Given the description of an element on the screen output the (x, y) to click on. 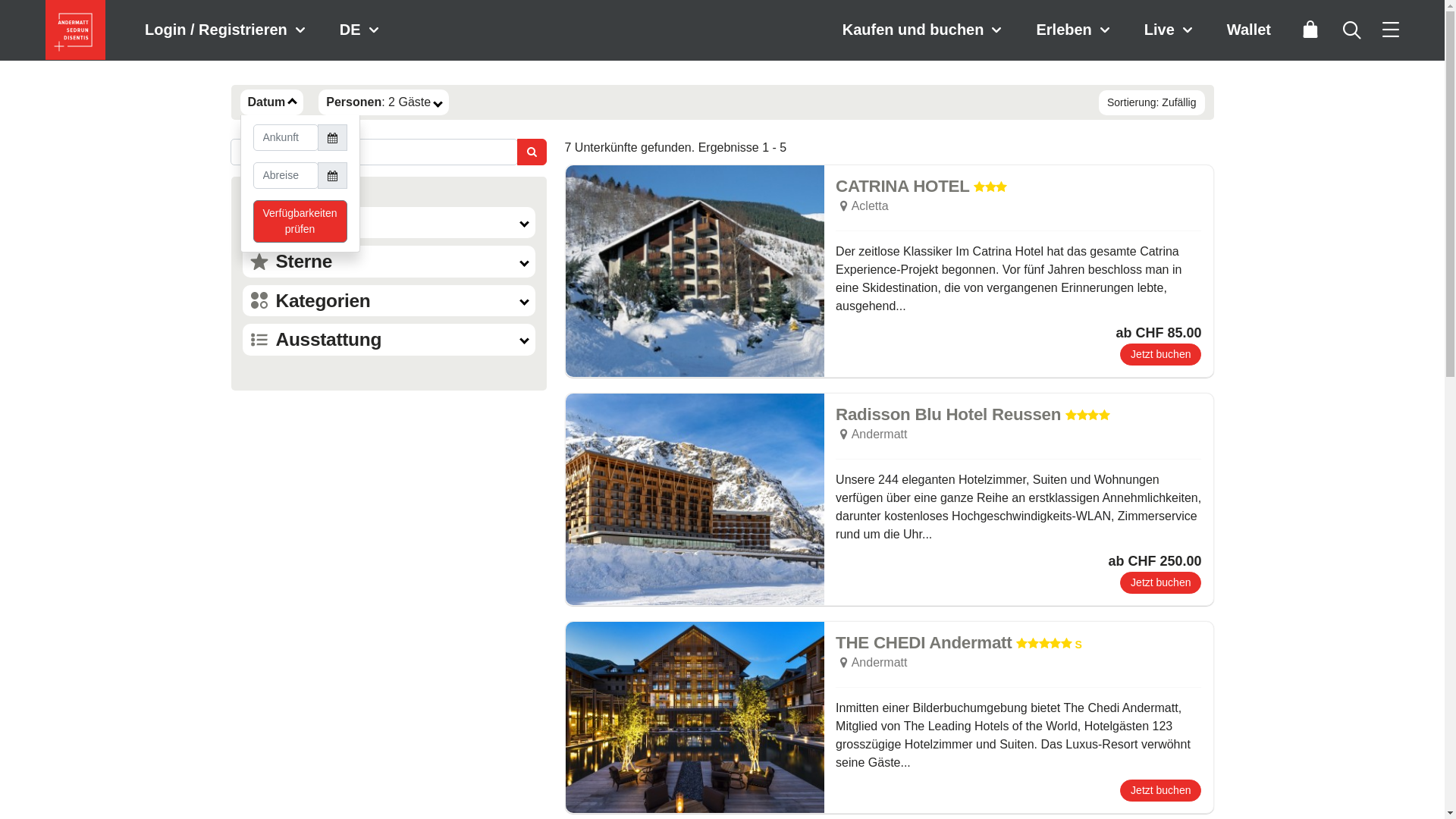
Sterne Element type: text (388, 260)
Erleben Element type: text (1074, 29)
Ort Element type: text (388, 222)
Live Element type: text (1170, 29)
Kaufen und buchen Element type: text (924, 29)
CATRINA HOTEL 
3 Sterne Element type: text (921, 186)
Radisson Blu Hotel Reussen 
4 Sterne Element type: text (972, 414)
Jetzt buchen Element type: text (1160, 790)
THE CHEDI Andermatt 
5 Sterne Element type: text (958, 643)
Kategorien Element type: text (388, 300)
Wallet Element type: text (1248, 29)
Ausstattung Element type: text (388, 338)
Jetzt buchen Element type: text (1160, 582)
Warenkorb Element type: hover (1310, 29)
Jetzt buchen Element type: text (1160, 354)
